Given the description of an element on the screen output the (x, y) to click on. 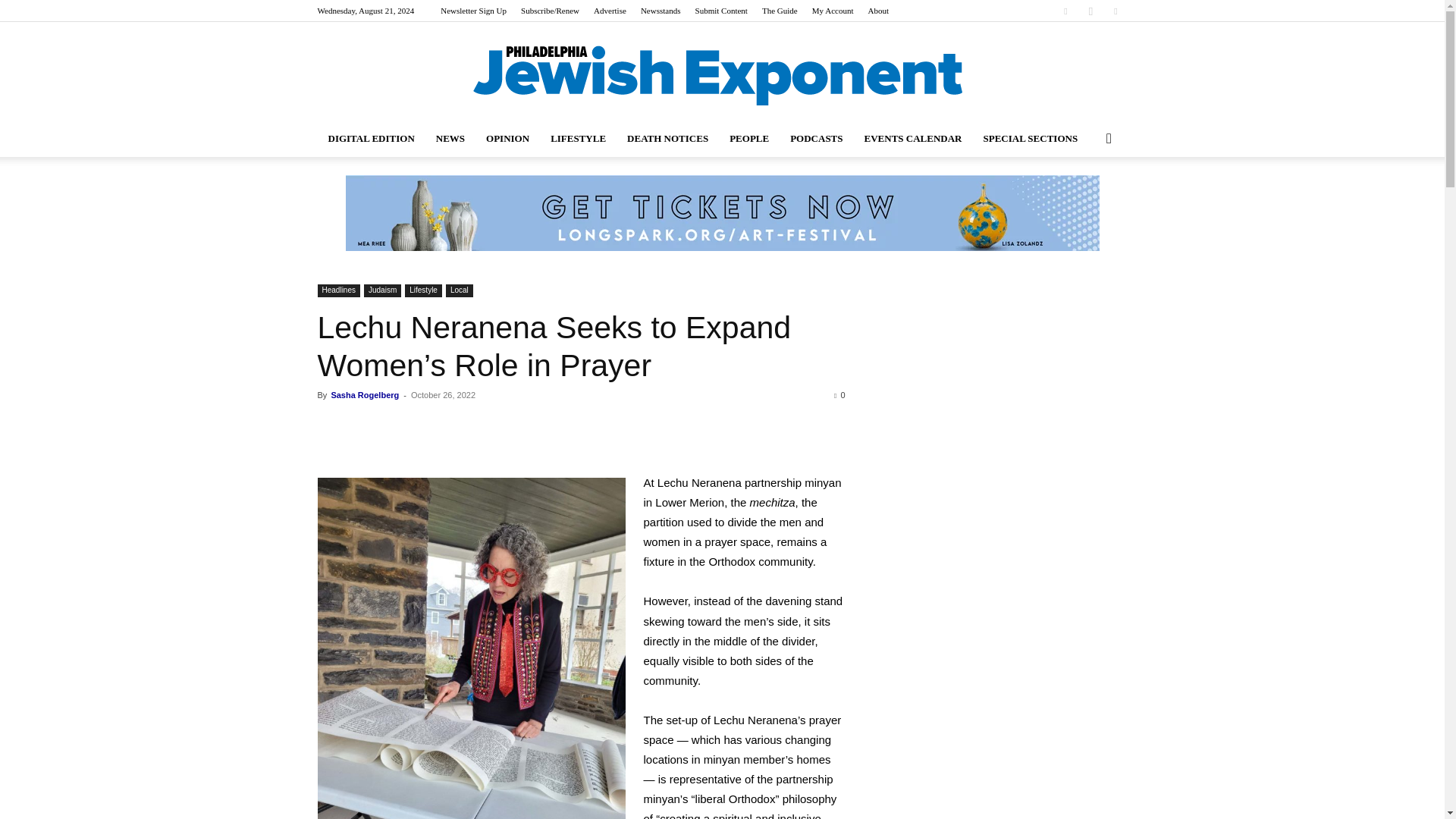
Newsletter Sign Up (473, 10)
Facebook (1065, 10)
Twitter (1114, 10)
Instagram (1090, 10)
